Given the description of an element on the screen output the (x, y) to click on. 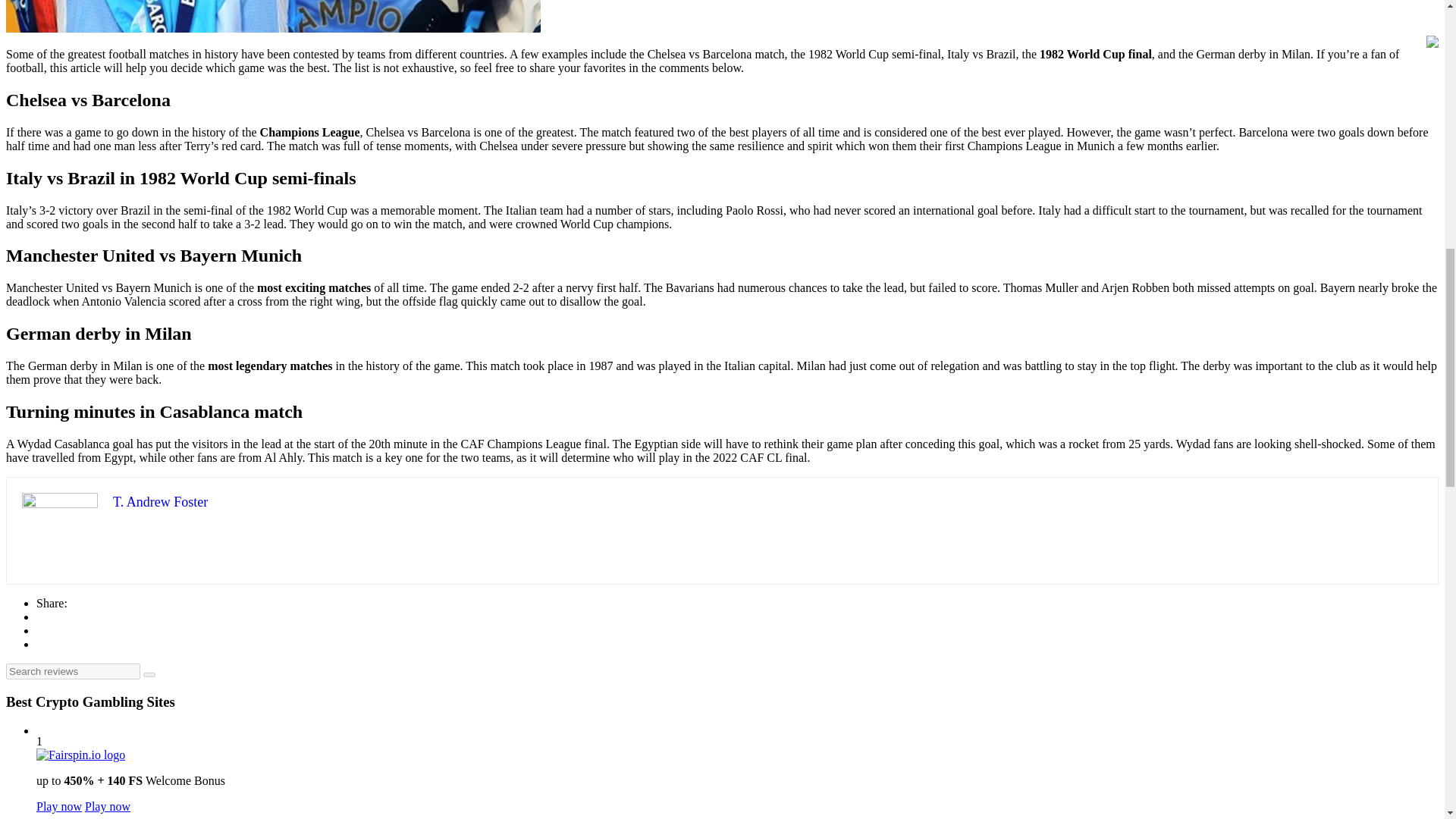
T. Andrew Foster (160, 501)
Play now (58, 806)
Play now (107, 806)
